Given the description of an element on the screen output the (x, y) to click on. 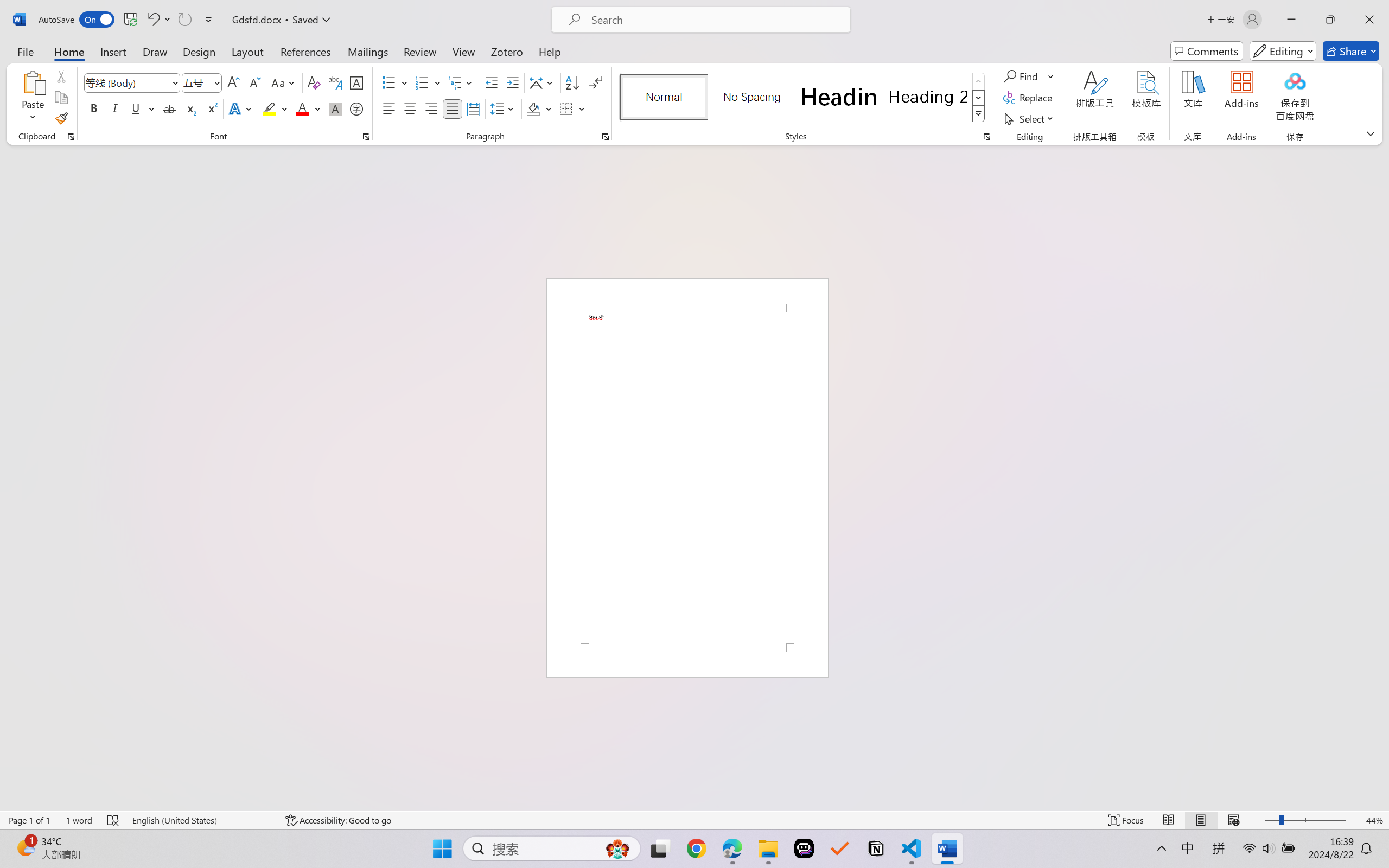
Zoom 44% (1374, 819)
